Given the description of an element on the screen output the (x, y) to click on. 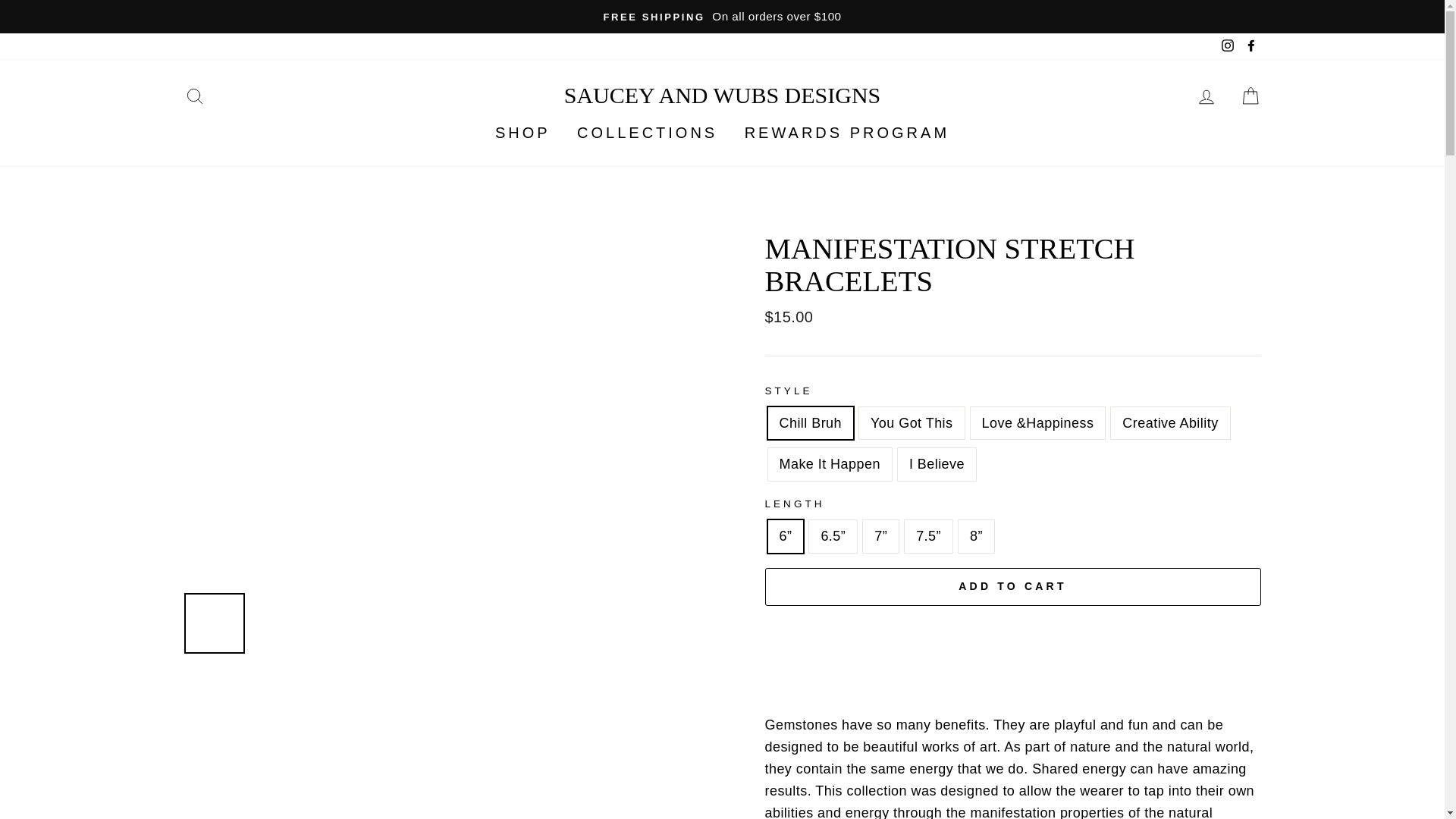
CART (1249, 94)
SHOP (522, 132)
SAUCEY AND WUBS DESIGNS (722, 94)
SEARCH (194, 94)
